Given the description of an element on the screen output the (x, y) to click on. 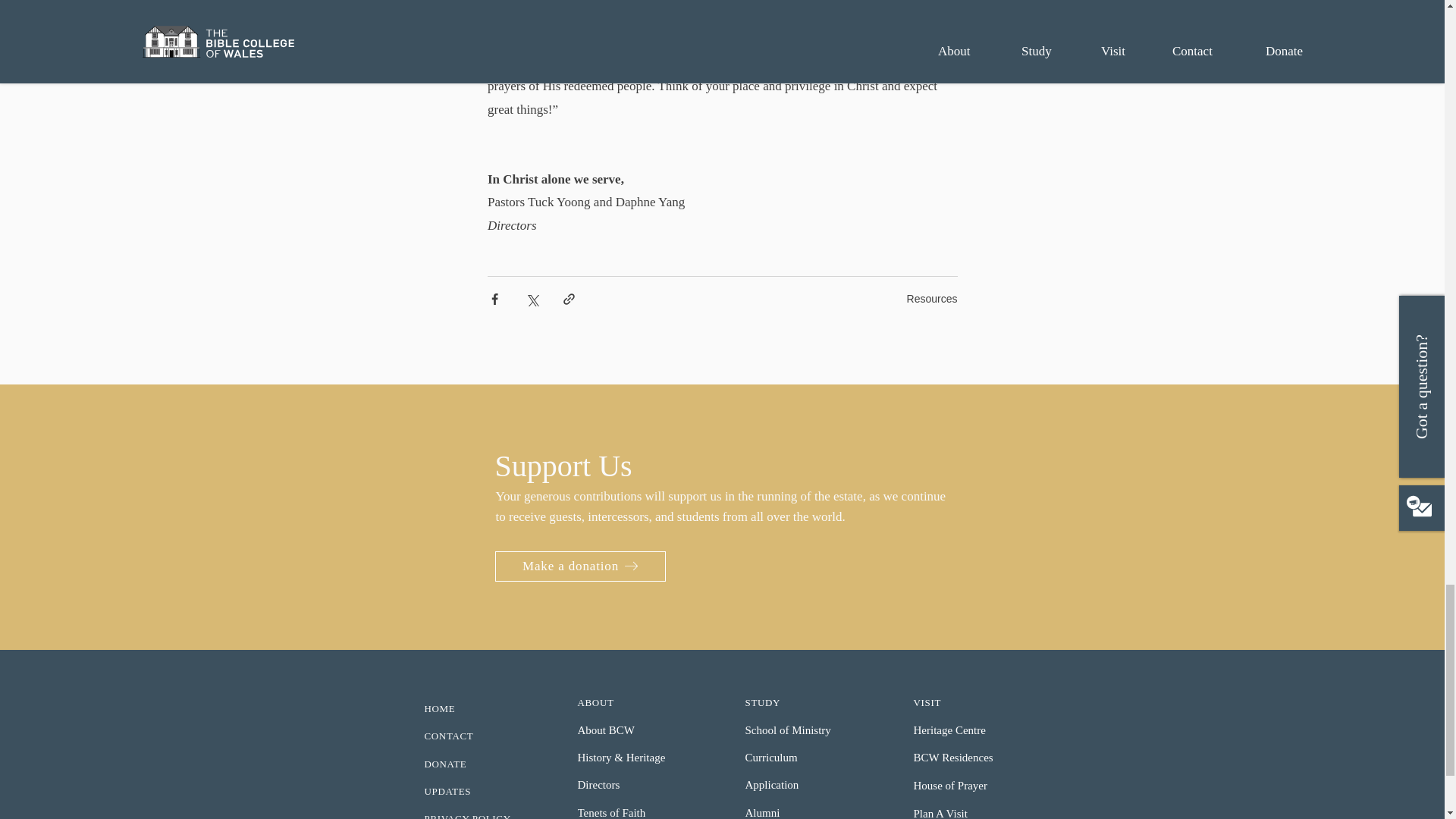
Tenets of Faith (638, 809)
Directors (638, 785)
Resources (932, 298)
Make a donation (580, 566)
PRIVACY POLICY (485, 812)
About BCW (638, 730)
HOME (485, 709)
CONTACT (485, 736)
UPDATES (485, 791)
DONATE (485, 764)
